Given the description of an element on the screen output the (x, y) to click on. 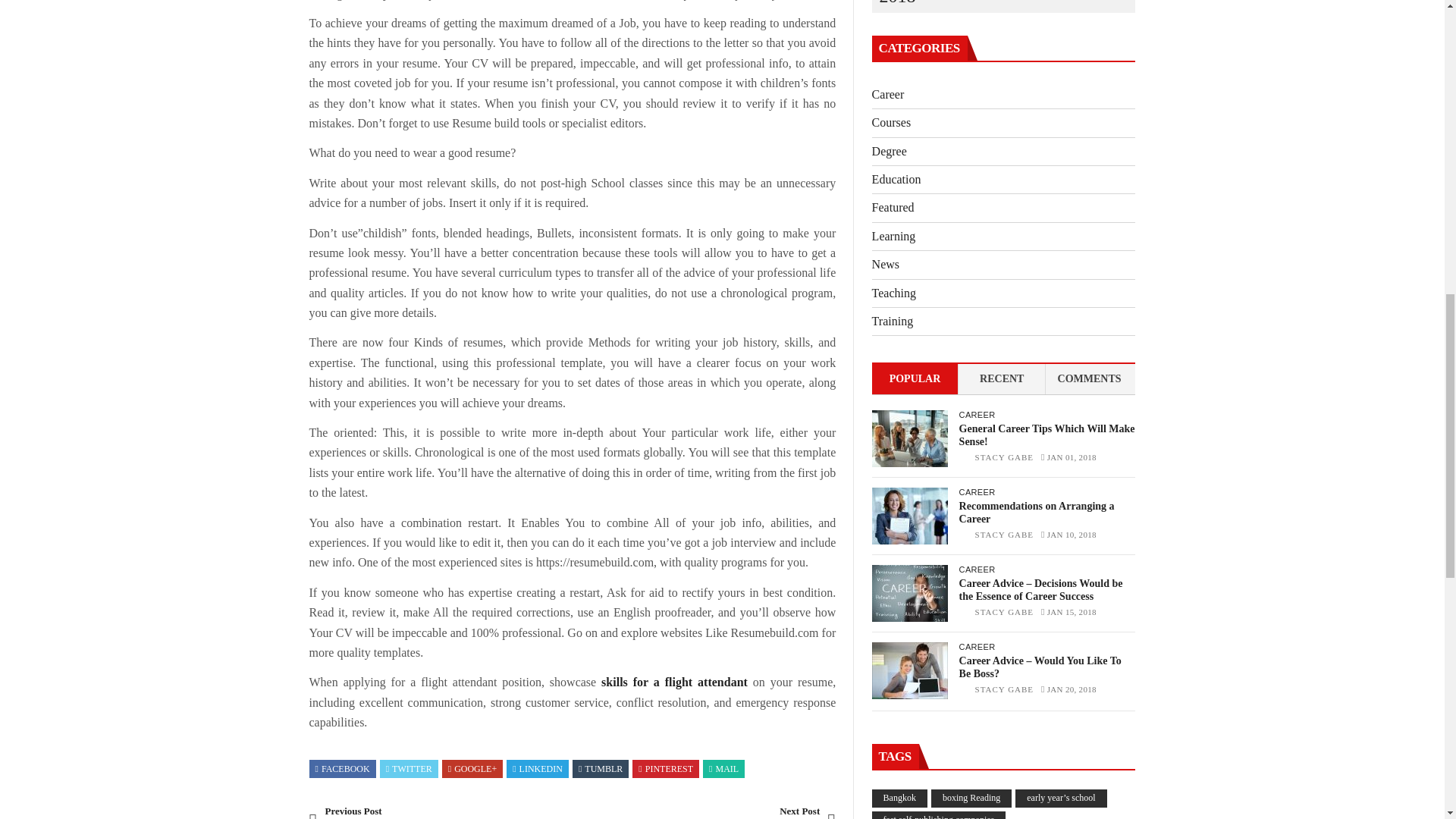
Google Plus (472, 767)
Tumblr (600, 767)
Twitter (408, 767)
LinkedIn (537, 767)
Posts by Stacy Gabe (1004, 456)
Facebook (342, 767)
skills for a flight attendant (674, 681)
TWITTER (408, 767)
Pinterest (666, 767)
Recommendations on Arranging a Career (909, 515)
Mail (723, 767)
FACEBOOK (342, 767)
General Career Tips Which Will Make Sense! (909, 438)
